Given the description of an element on the screen output the (x, y) to click on. 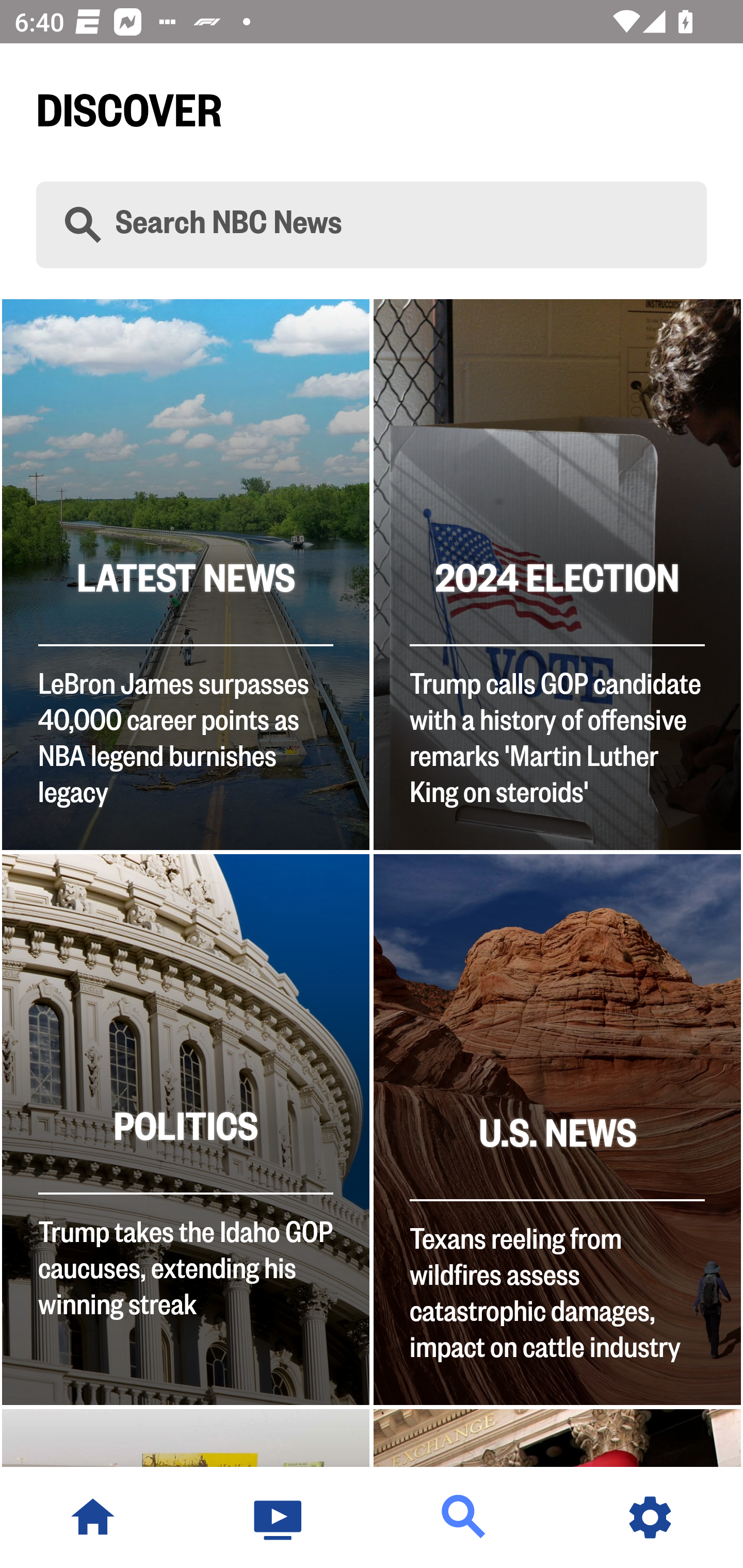
NBC News Home (92, 1517)
Watch (278, 1517)
Settings (650, 1517)
